Given the description of an element on the screen output the (x, y) to click on. 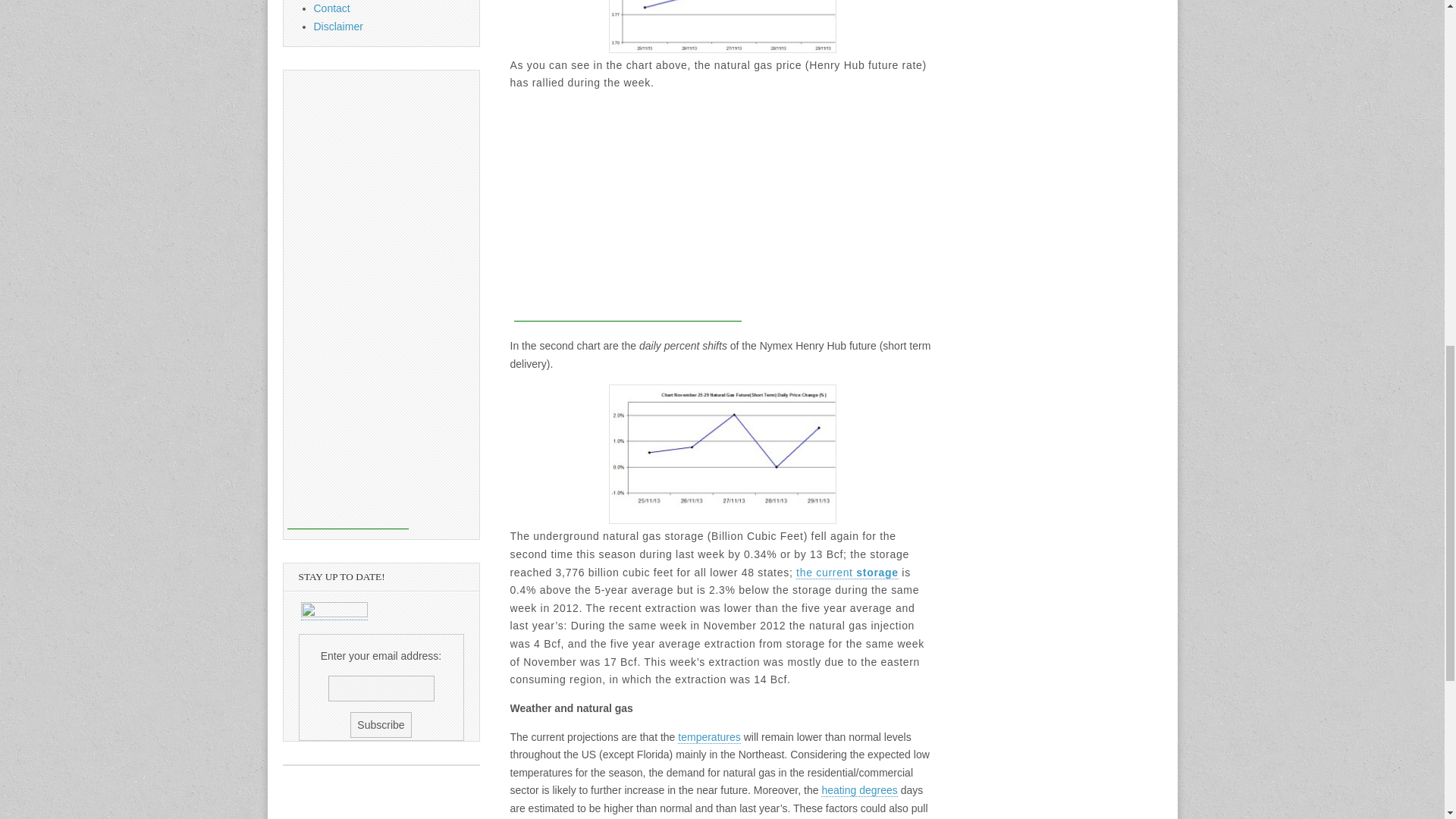
Advertisement (627, 226)
Disclaimer (338, 26)
Subscribe (380, 724)
the current storage (847, 572)
Contact (332, 8)
heating degrees (858, 789)
Subscribe (380, 724)
temperatures (708, 737)
